Given the description of an element on the screen output the (x, y) to click on. 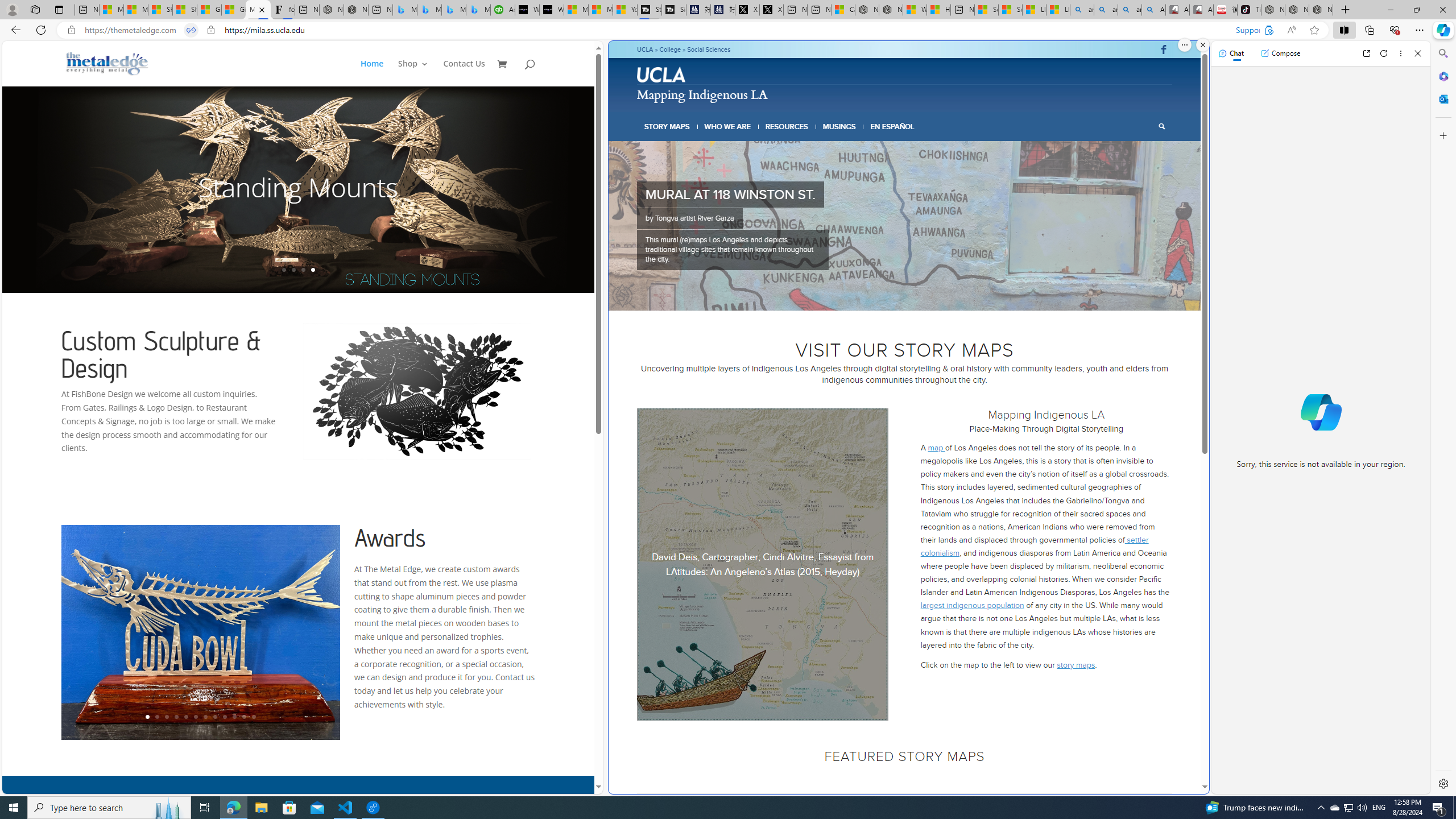
Nordace - Summer Adventures 2024 (890, 9)
12 (253, 716)
Home (371, 72)
More options (1401, 53)
Microsoft Bing Travel - Stays in Bangkok, Bangkok, Thailand (429, 9)
garza winston street (904, 225)
10 (233, 716)
Amazon Echo Robot - Search Images (1153, 9)
map  (935, 447)
Contact Us (463, 72)
